Given the description of an element on the screen output the (x, y) to click on. 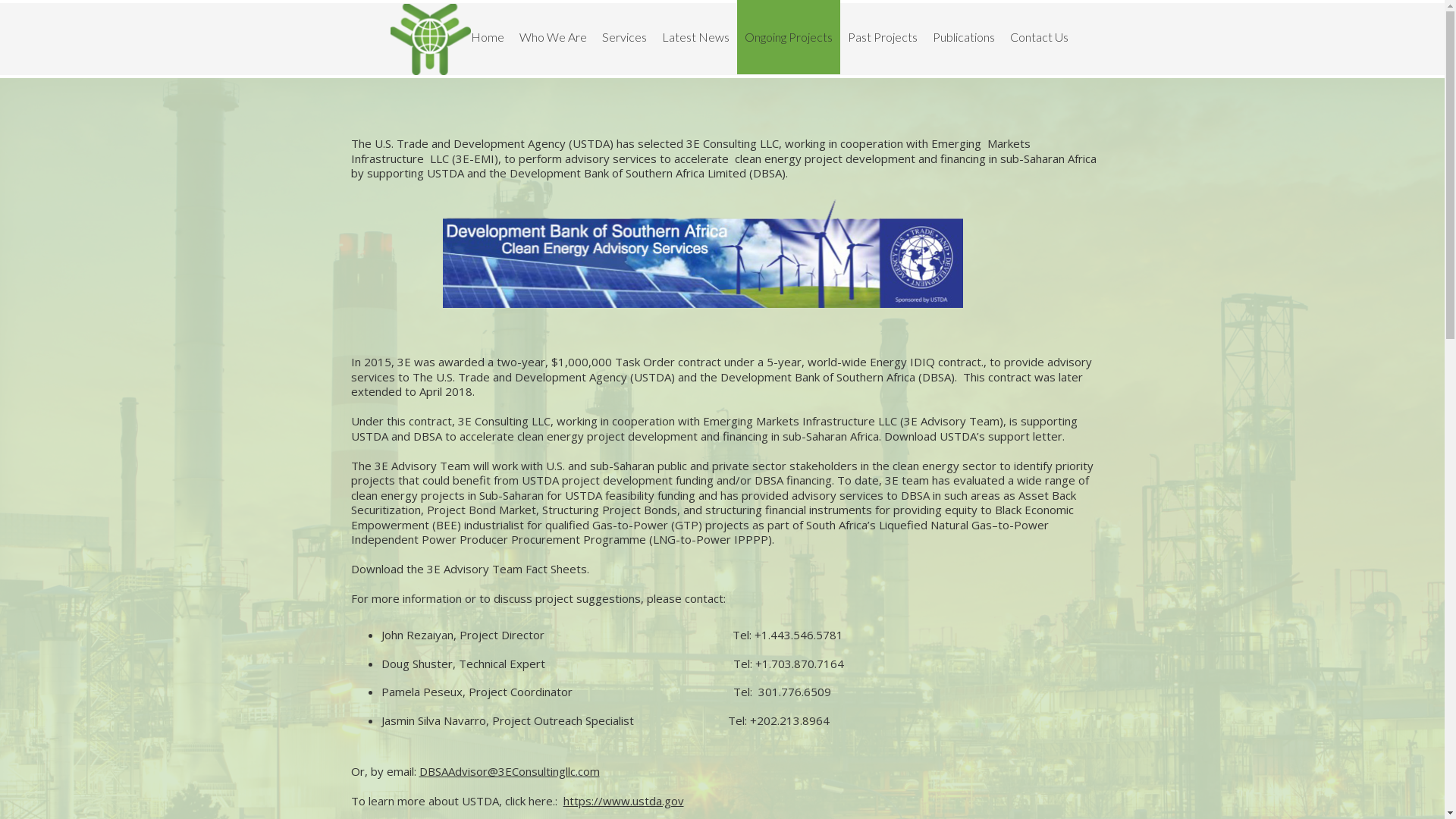
Past Projects Element type: text (882, 36)
Who We Are Element type: text (552, 36)
Services Element type: text (624, 36)
Home Element type: text (486, 36)
DBSAAdvisor@3EConsultingllc.com Element type: text (508, 770)
Latest News Element type: text (694, 36)
Publications Element type: text (963, 36)
Contact Us Element type: text (1039, 36)
Ongoing Projects Element type: text (788, 36)
https://www.ustda.gov Element type: text (622, 800)
